Given the description of an element on the screen output the (x, y) to click on. 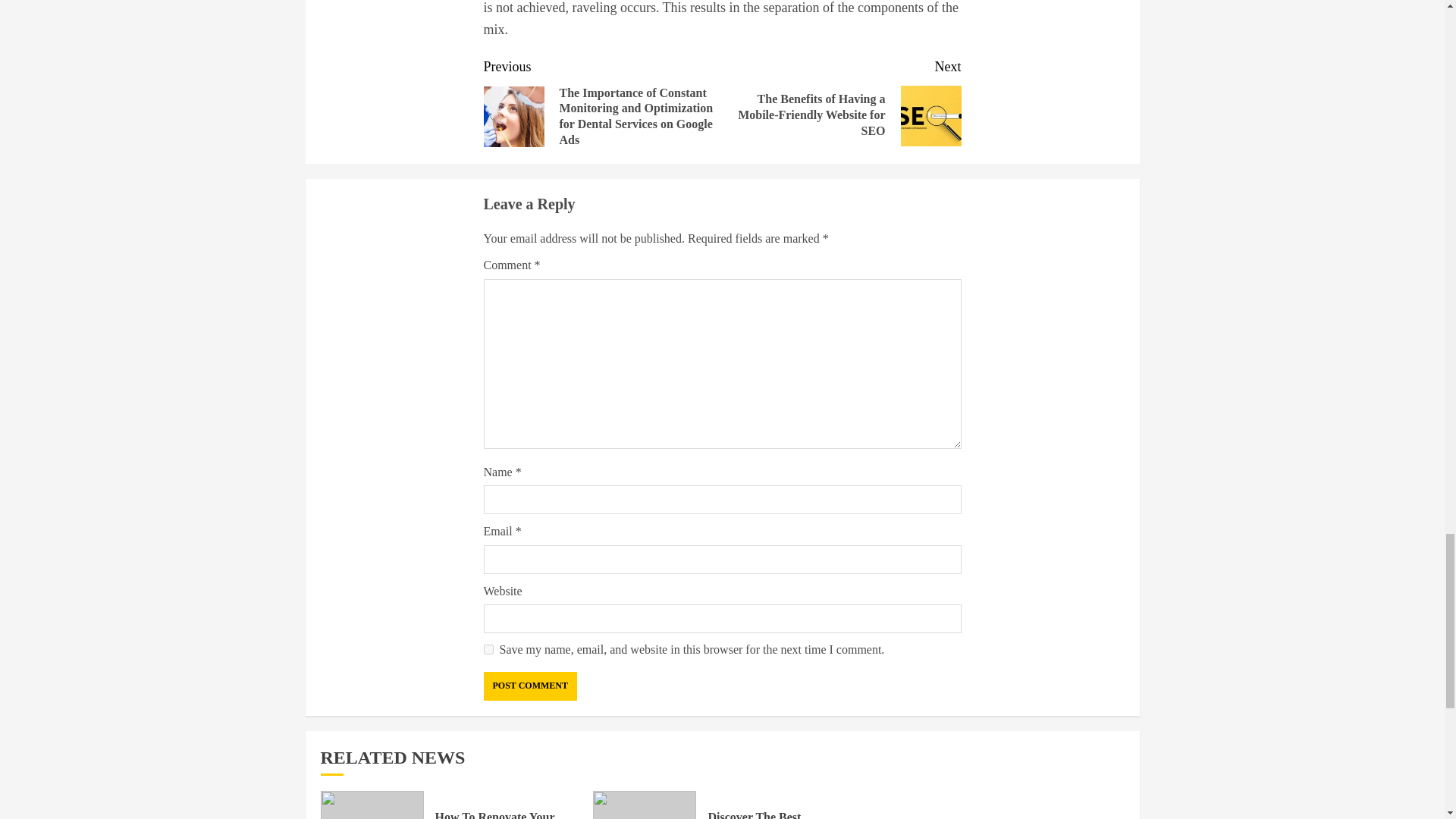
yes (488, 649)
Post Comment (529, 686)
How To Renovate Your Bathroom: A Step-By-Step Guide (504, 814)
Post Comment (529, 686)
